Given the description of an element on the screen output the (x, y) to click on. 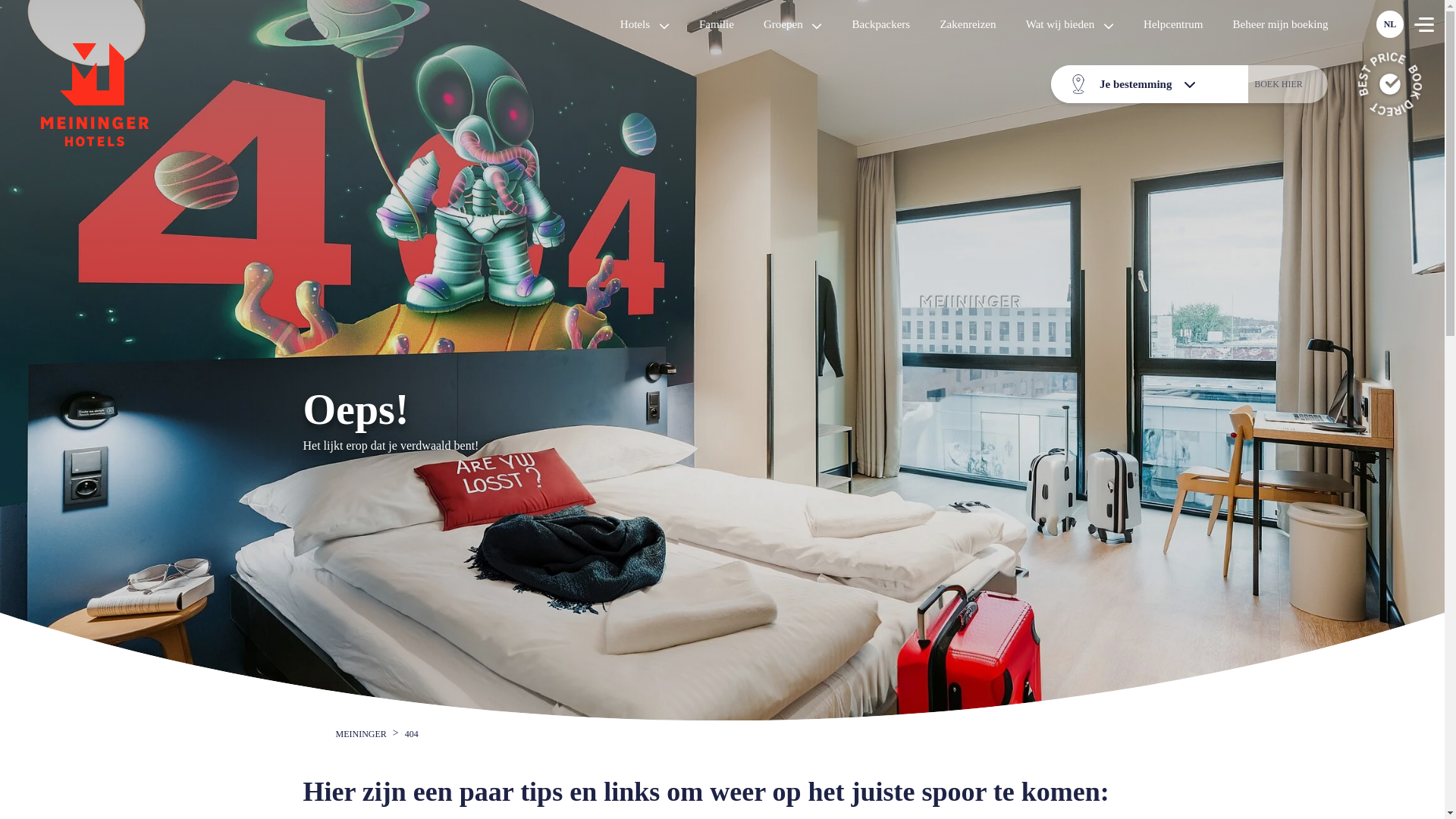
Hotels (644, 23)
Zakenreizen (967, 23)
Backpackers (880, 23)
Familie (716, 23)
